Given the description of an element on the screen output the (x, y) to click on. 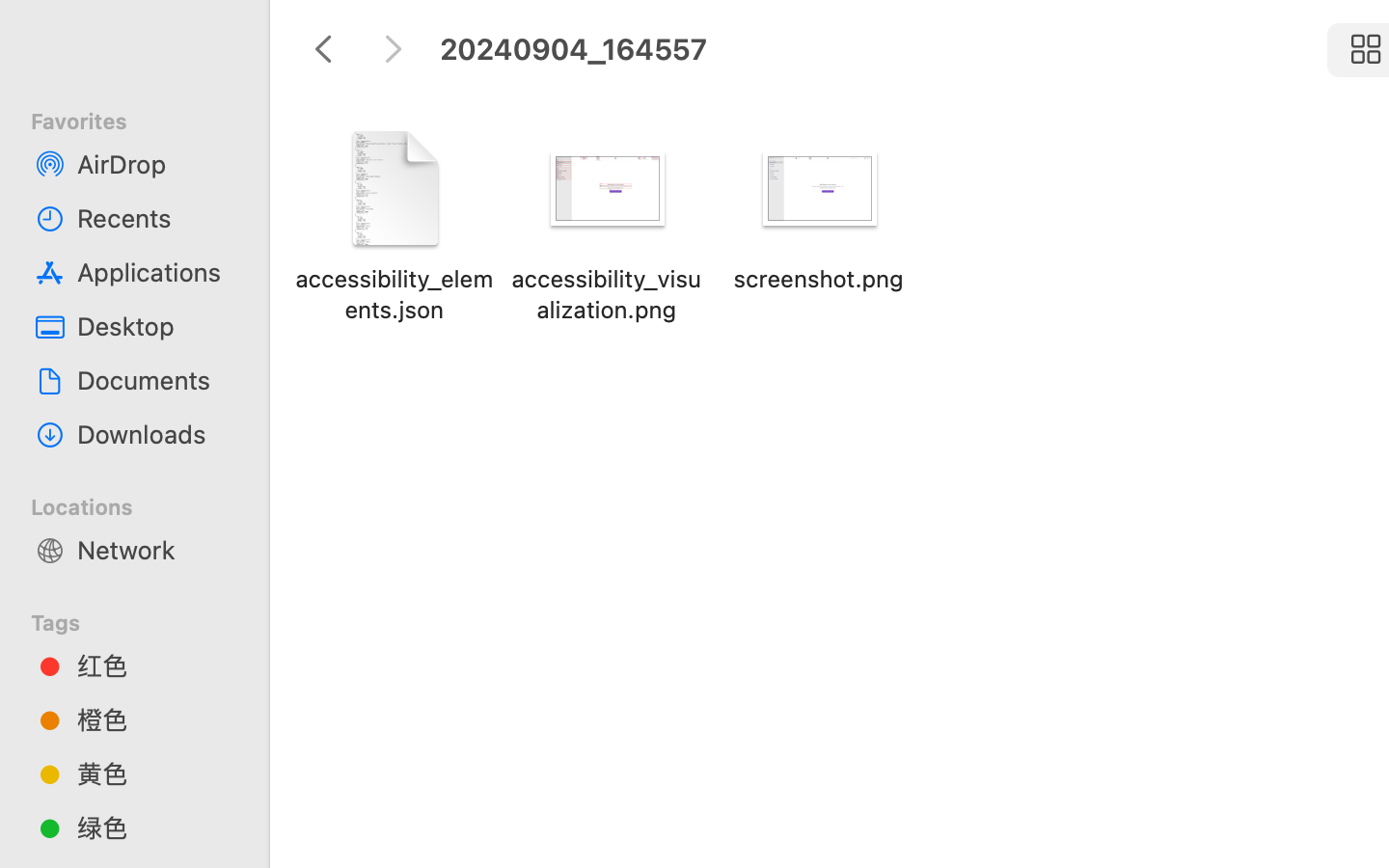
Recents Element type: AXStaticText (155, 217)
Downloads Element type: AXStaticText (155, 433)
黄色 Element type: AXStaticText (155, 773)
橙色 Element type: AXStaticText (155, 719)
Locations Element type: AXStaticText (145, 504)
